Given the description of an element on the screen output the (x, y) to click on. 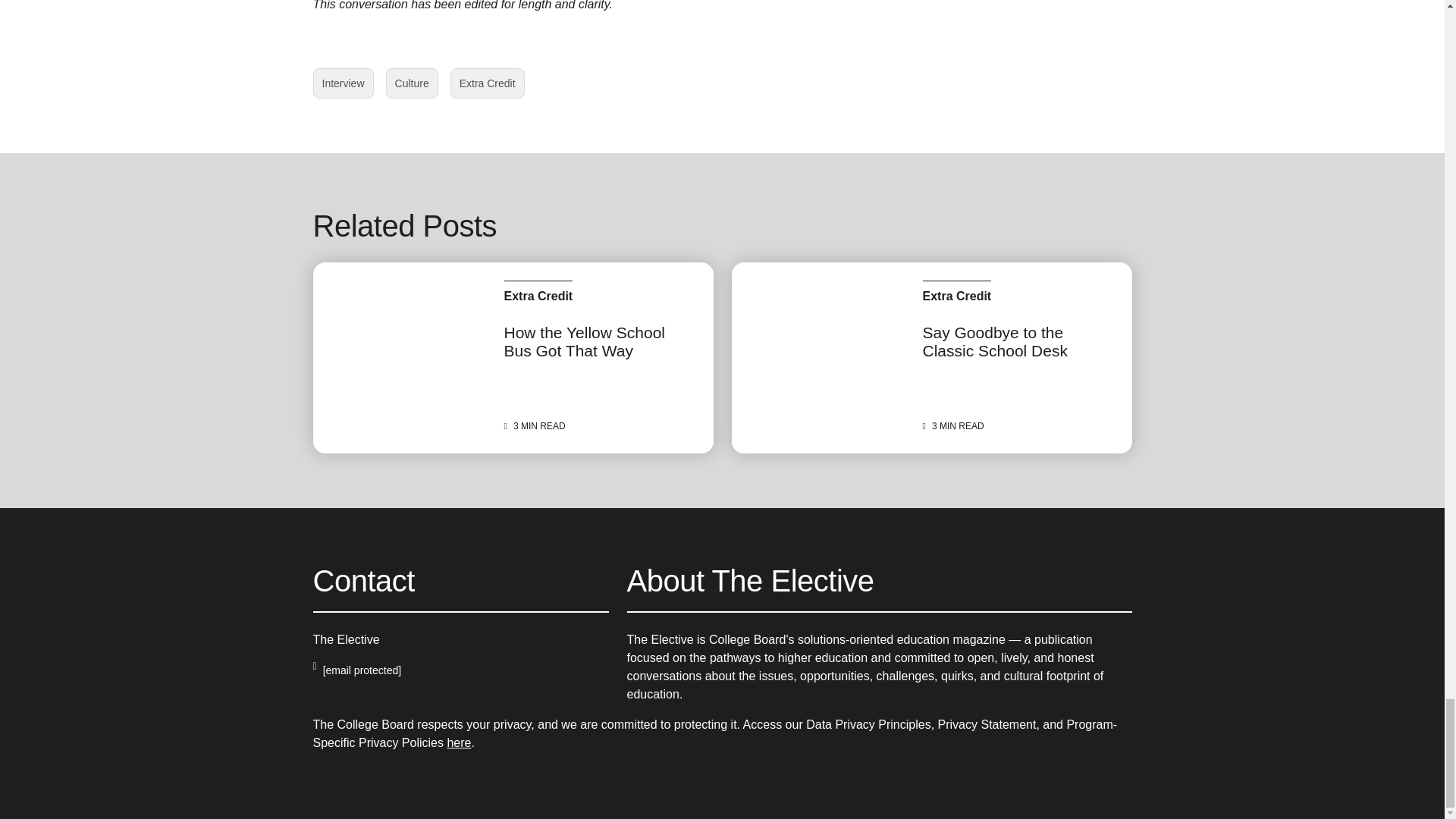
here (342, 82)
